Given the description of an element on the screen output the (x, y) to click on. 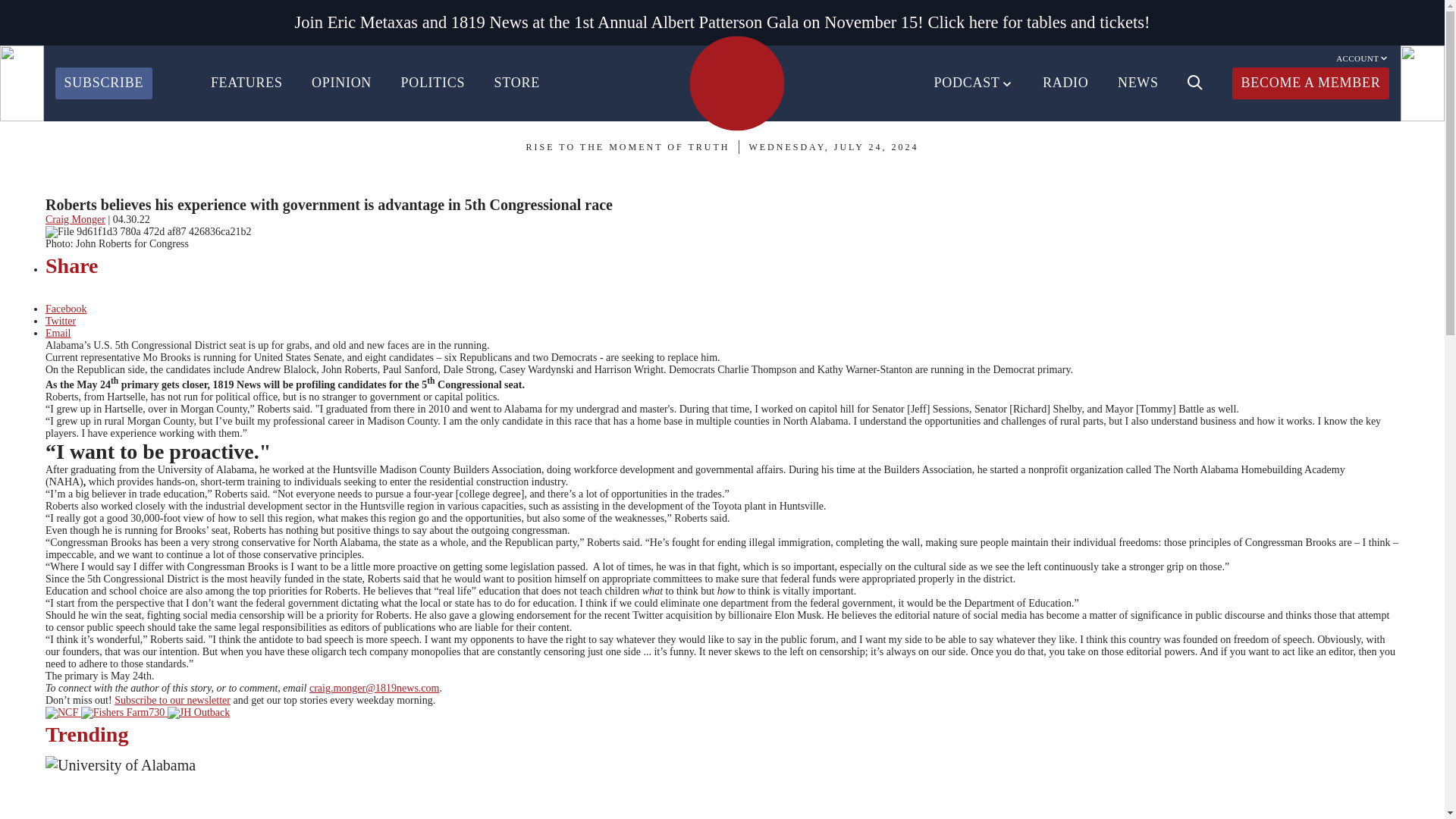
Craig Monger (74, 219)
PODCAST (973, 83)
NCF (61, 712)
Fishers Farm730 (123, 712)
OPINION (341, 83)
HOMEPAGE (736, 83)
BECOME A MEMBER (1310, 83)
JH Outback (198, 712)
STORE (517, 83)
Politics (69, 186)
Facebook (65, 308)
NEWS (1138, 83)
FEATURES (246, 83)
SUBSCRIBE (103, 83)
RADIO (1065, 83)
